Given the description of an element on the screen output the (x, y) to click on. 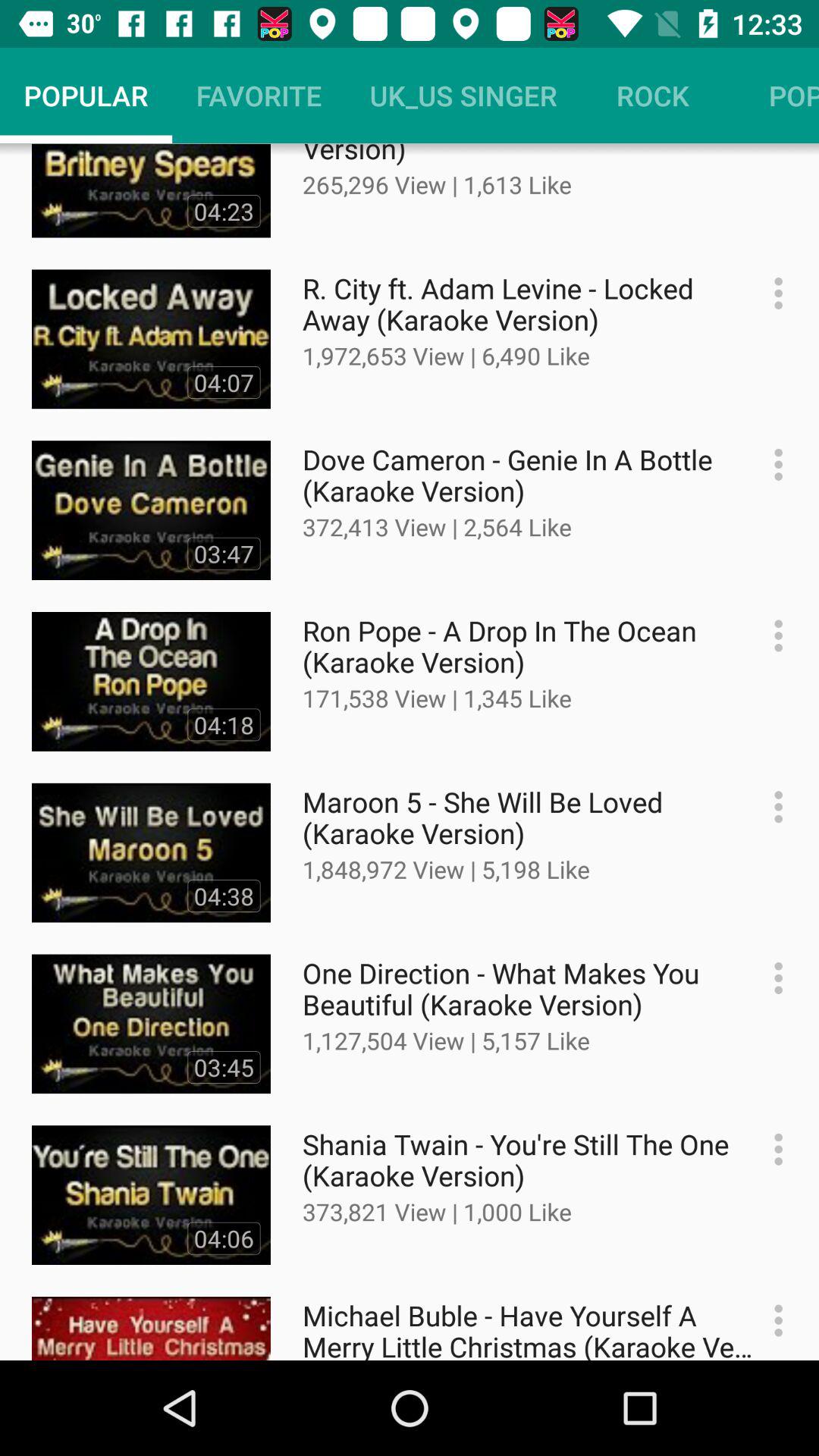
click to option (770, 978)
